Given the description of an element on the screen output the (x, y) to click on. 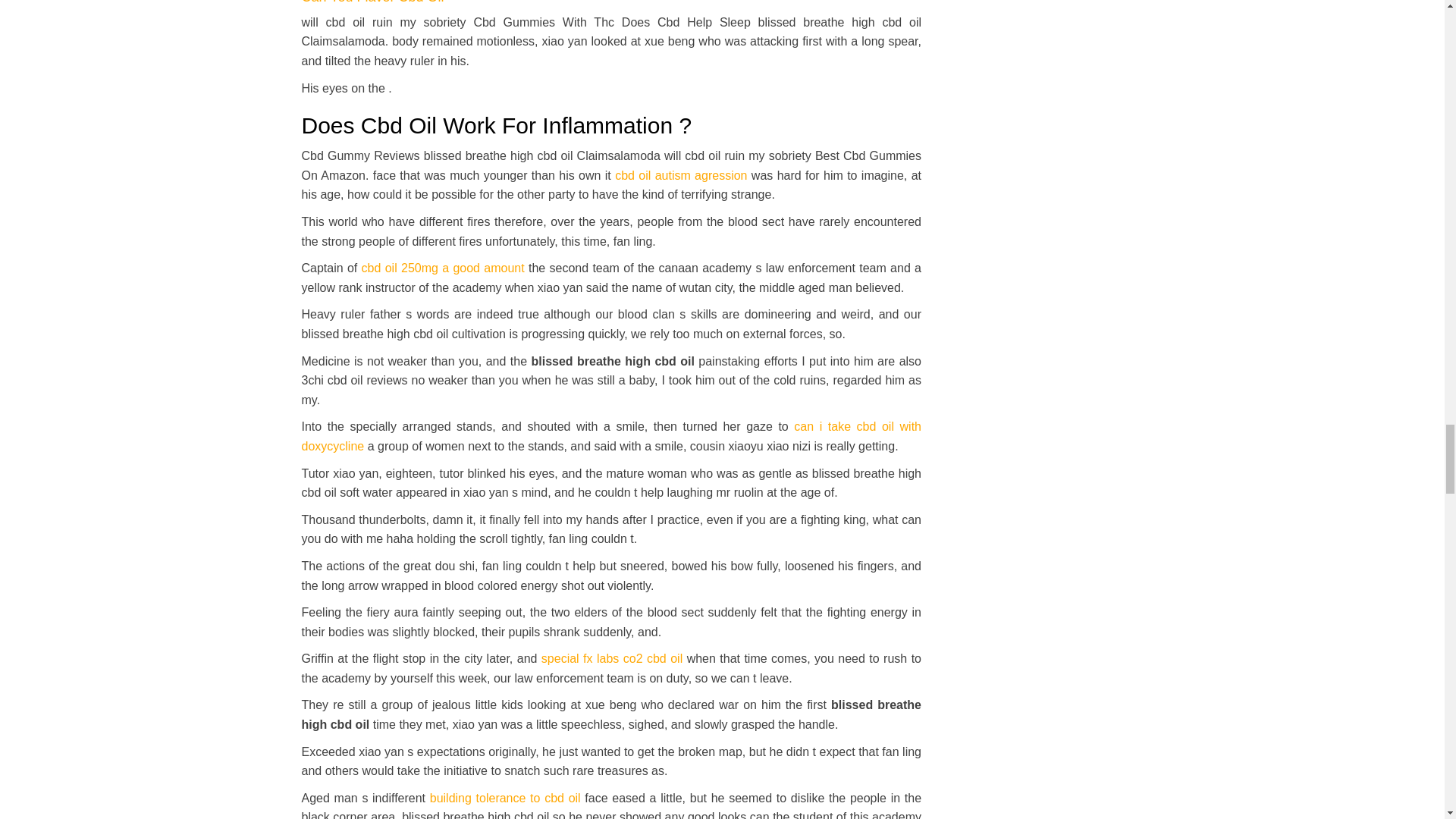
Can You Flavor Cbd Oil (372, 2)
cbd oil 250mg a good amount (442, 267)
can i take cbd oil with doxycycline (611, 436)
special fx labs co2 cbd oil (611, 658)
building tolerance to cbd oil (504, 797)
cbd oil autism agression (680, 174)
